Given the description of an element on the screen output the (x, y) to click on. 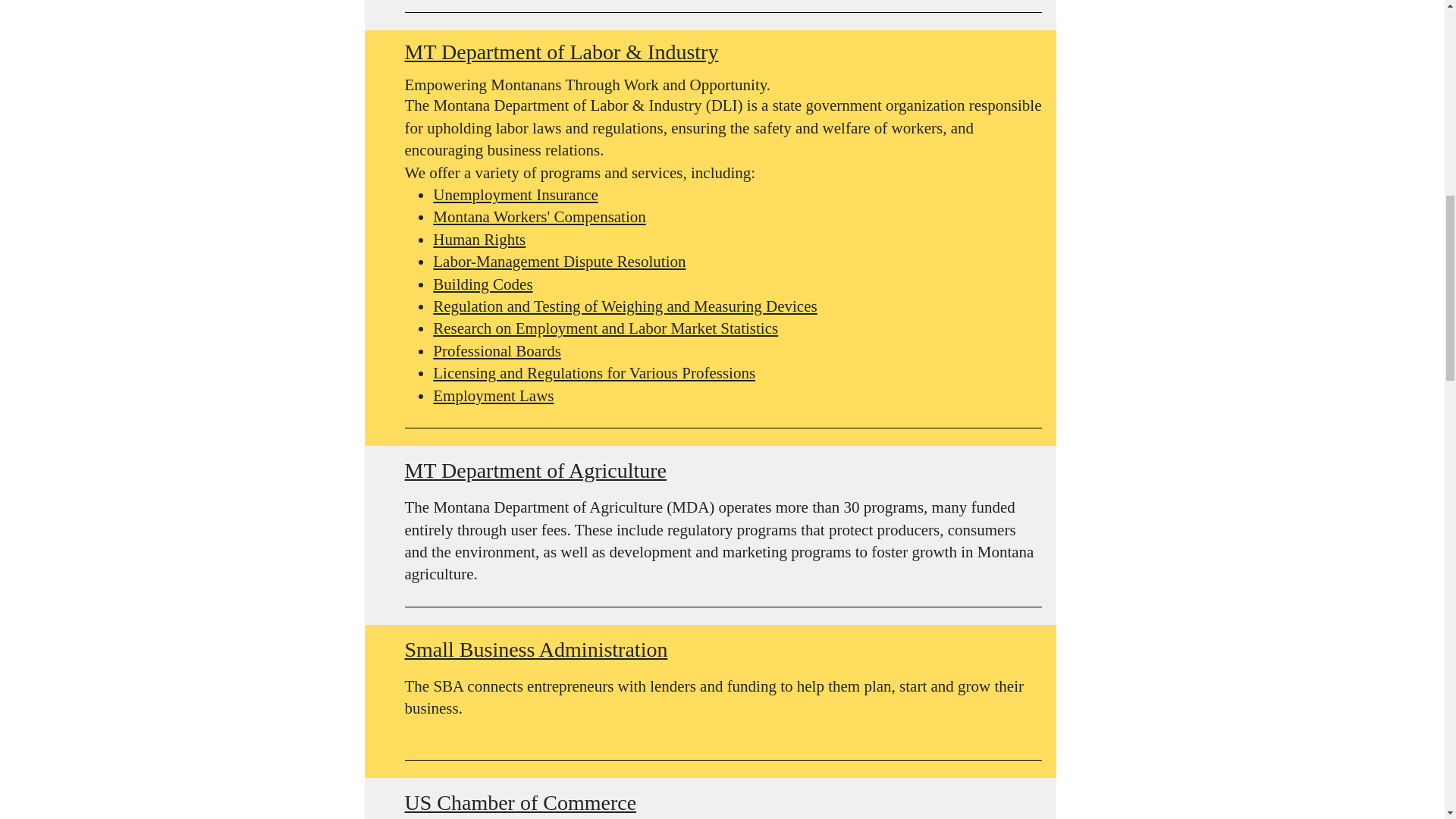
Small Business Administration (536, 649)
Research on Employment and Labor Market Statistics (604, 328)
Labor-Management Dispute Resolution (558, 261)
Human Rights (478, 239)
MT Department of Agriculture (535, 470)
Licensing and Regulations for Various Professions (593, 372)
Unemployment Insurance (515, 194)
Building Codes (482, 284)
Professional Boards (496, 351)
US Chamber of Commerce (520, 802)
